Given the description of an element on the screen output the (x, y) to click on. 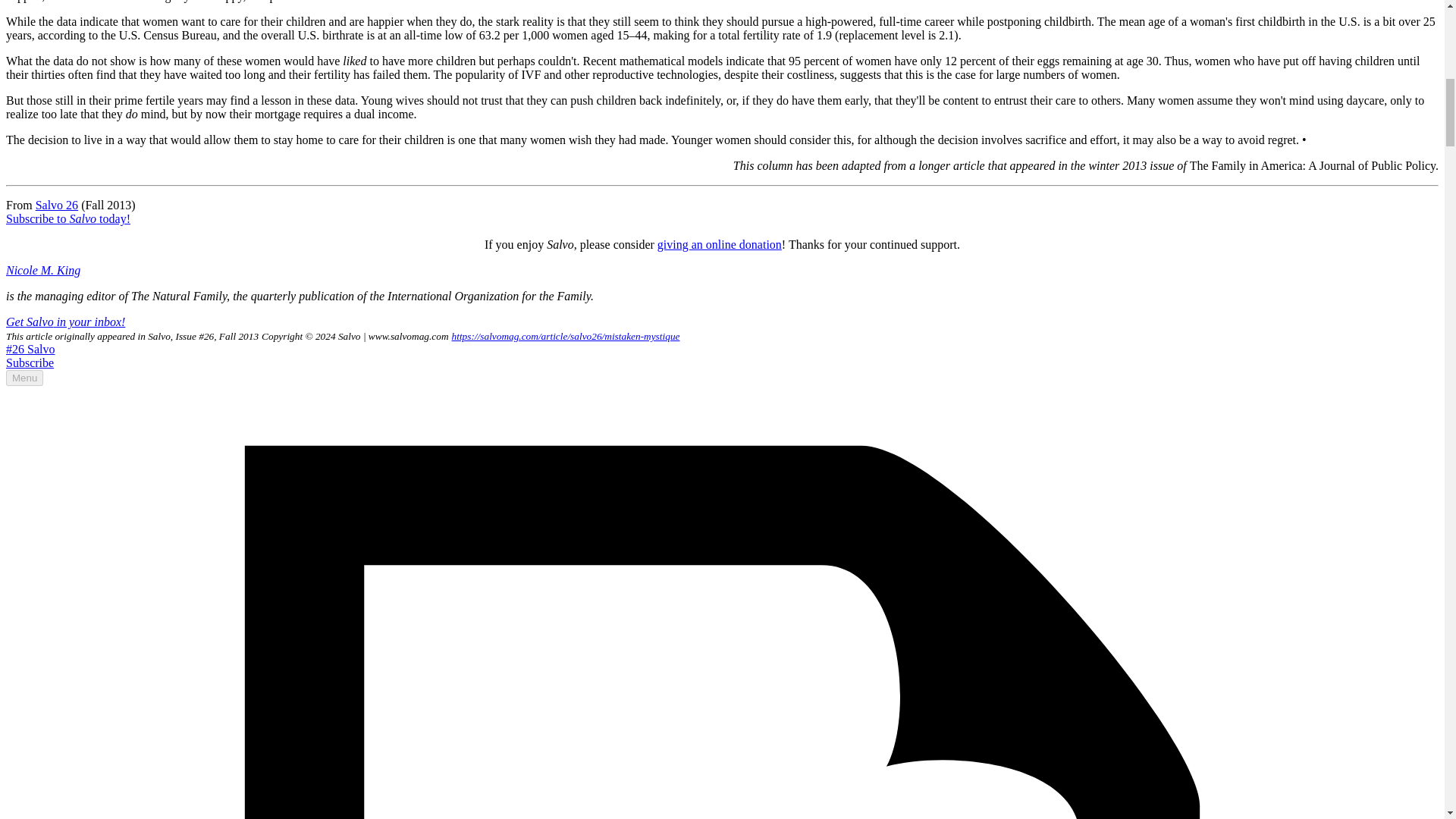
giving an online donation (719, 244)
Salvo 26 (56, 205)
Subscribe to Salvo today! (68, 218)
Nicole M. King (42, 269)
Get Salvo in your inbox! (65, 321)
Menu (24, 377)
Subscribe (29, 362)
